Given the description of an element on the screen output the (x, y) to click on. 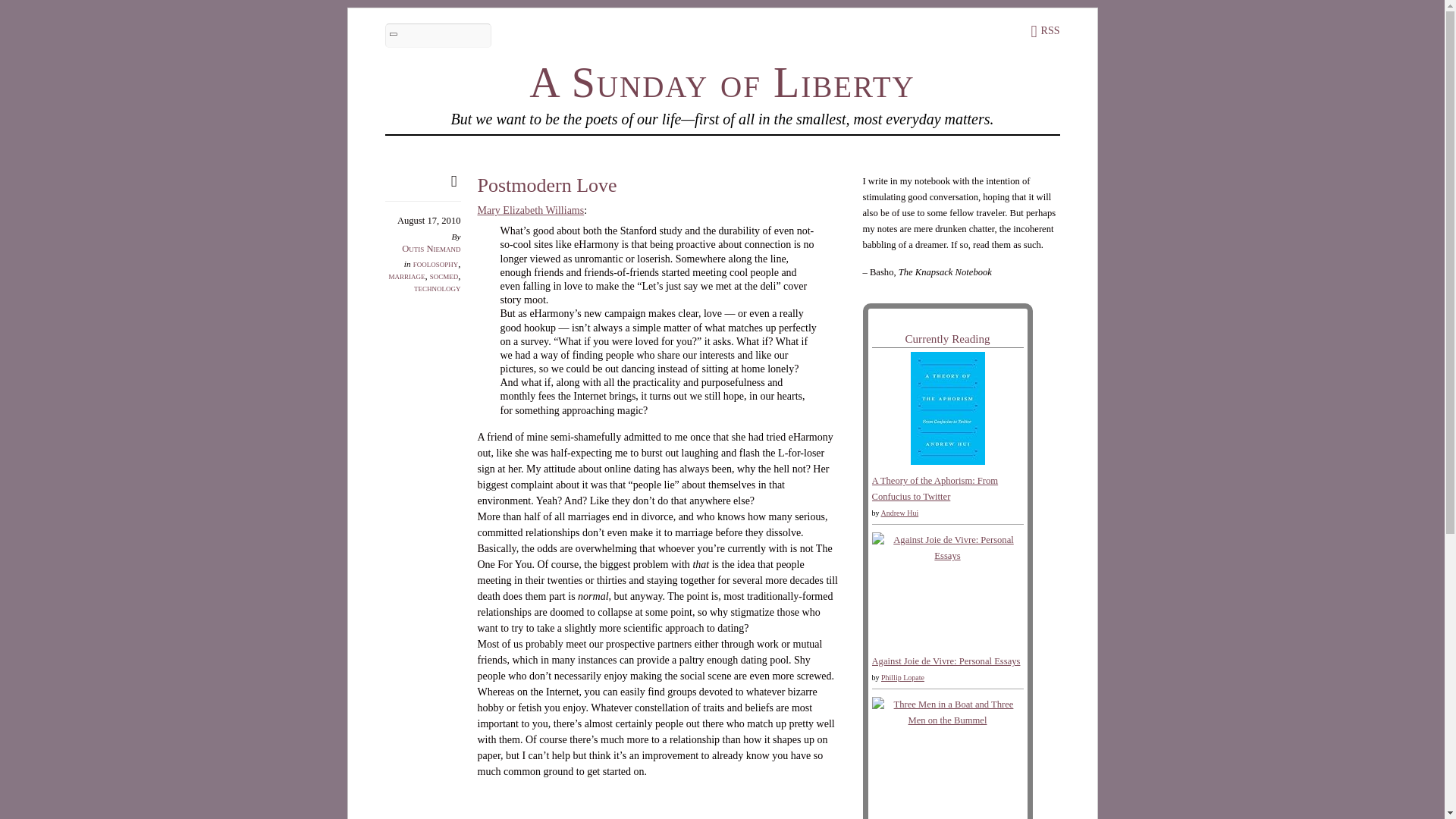
A Theory of the Aphorism: From Confucius to Twitter (947, 461)
foolosophy (435, 263)
socmed (443, 276)
A Theory of the Aphorism: From Confucius to Twitter (935, 488)
Outis Niemand (430, 247)
Three Men in a Boat and Three Men on the Bummel (947, 719)
Currently Reading (947, 338)
RSS (1044, 30)
Mary Elizabeth Williams (531, 210)
marriage (406, 276)
Phillip Lopate (902, 677)
Andrew Hui (899, 512)
Postmodern Love (547, 185)
Against Joie de Vivre: Personal Essays (946, 661)
Against Joie de Vivre: Personal Essays (947, 555)
